Given the description of an element on the screen output the (x, y) to click on. 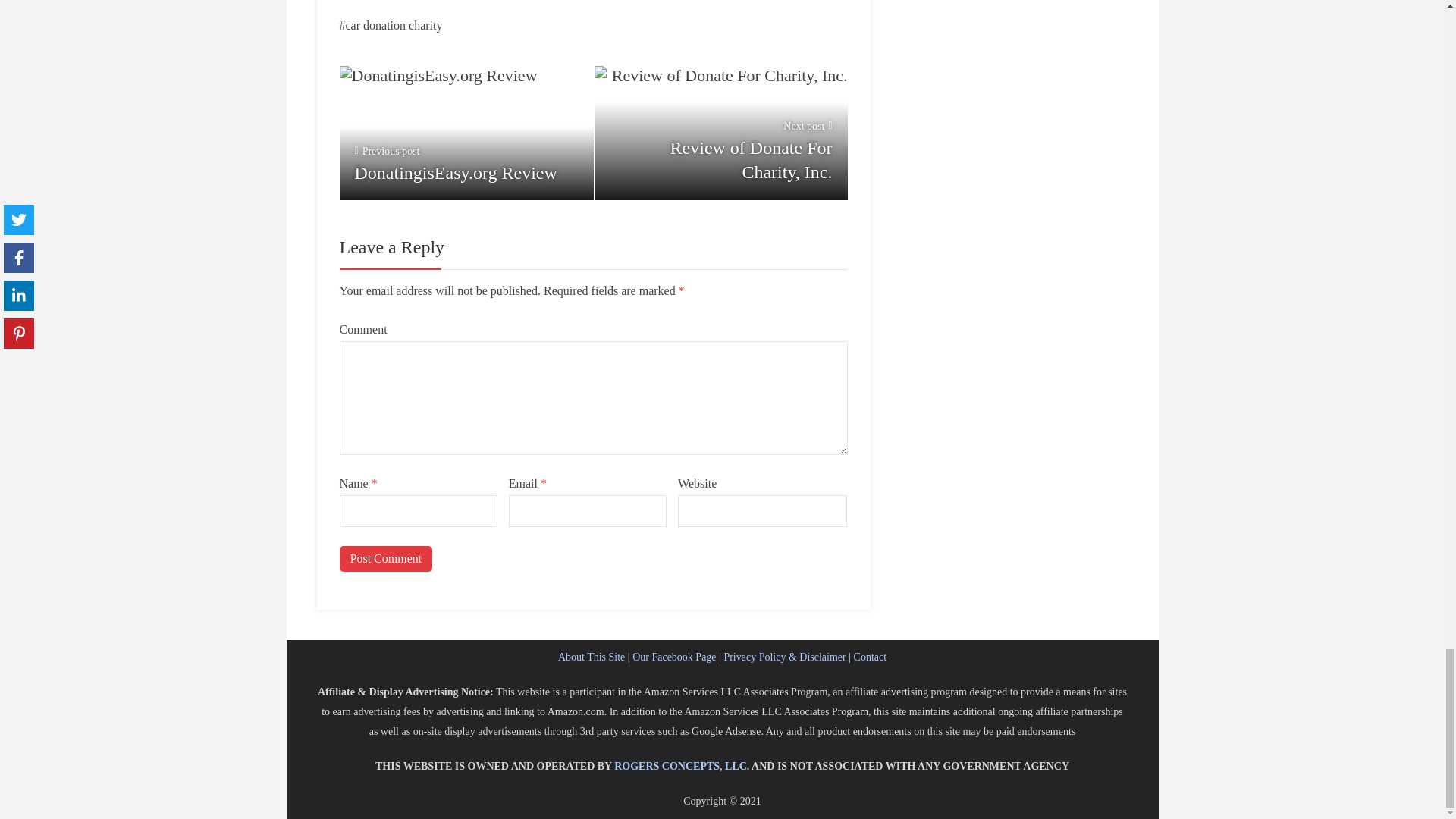
Post Comment (385, 558)
